Given the description of an element on the screen output the (x, y) to click on. 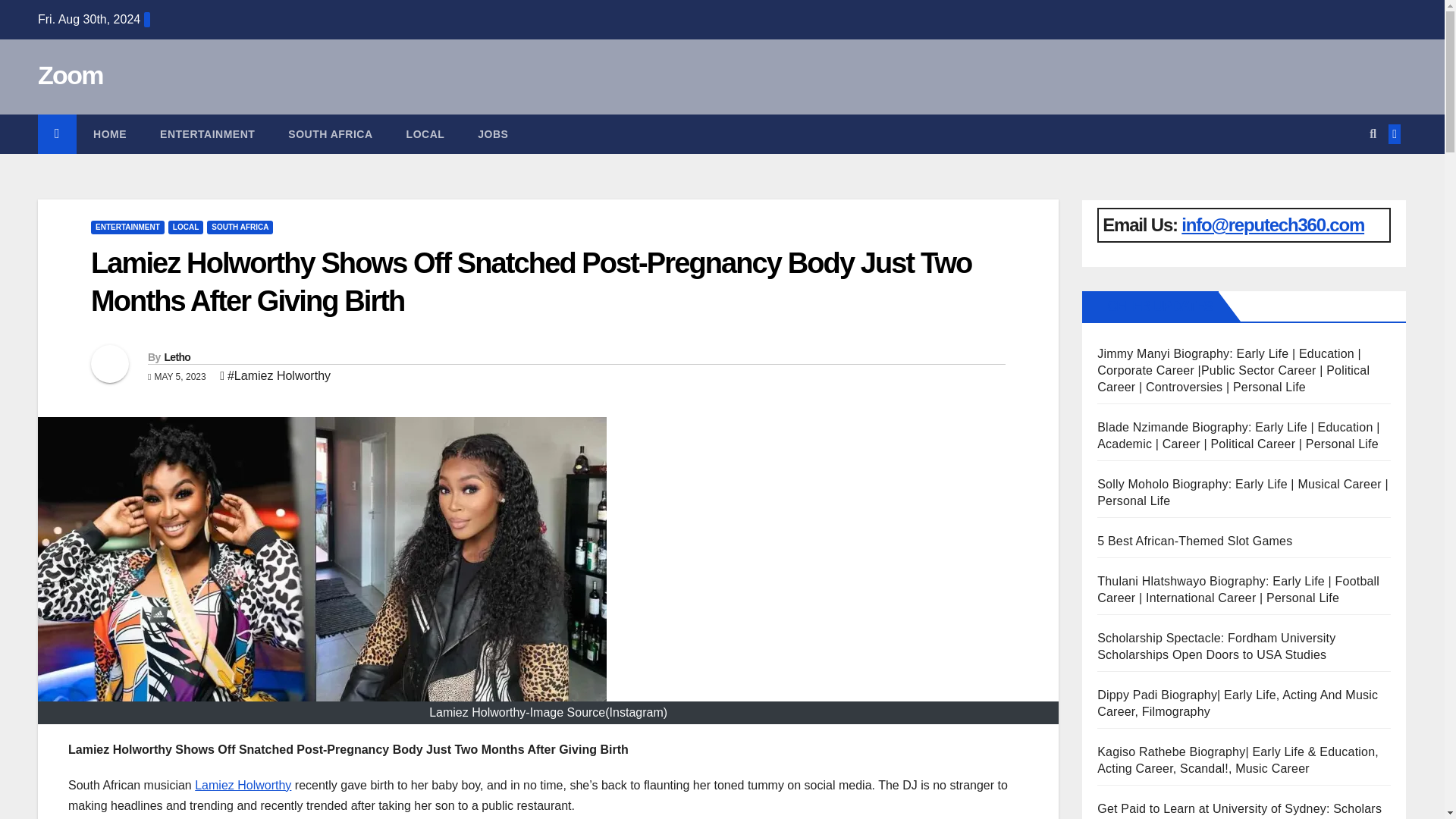
LOCAL (185, 227)
Jobs (492, 133)
HOME (109, 133)
SOUTH AFRICA (239, 227)
Lamiez Holworthy (243, 784)
Home (109, 133)
South Africa (329, 133)
LOCAL (425, 133)
